Given the description of an element on the screen output the (x, y) to click on. 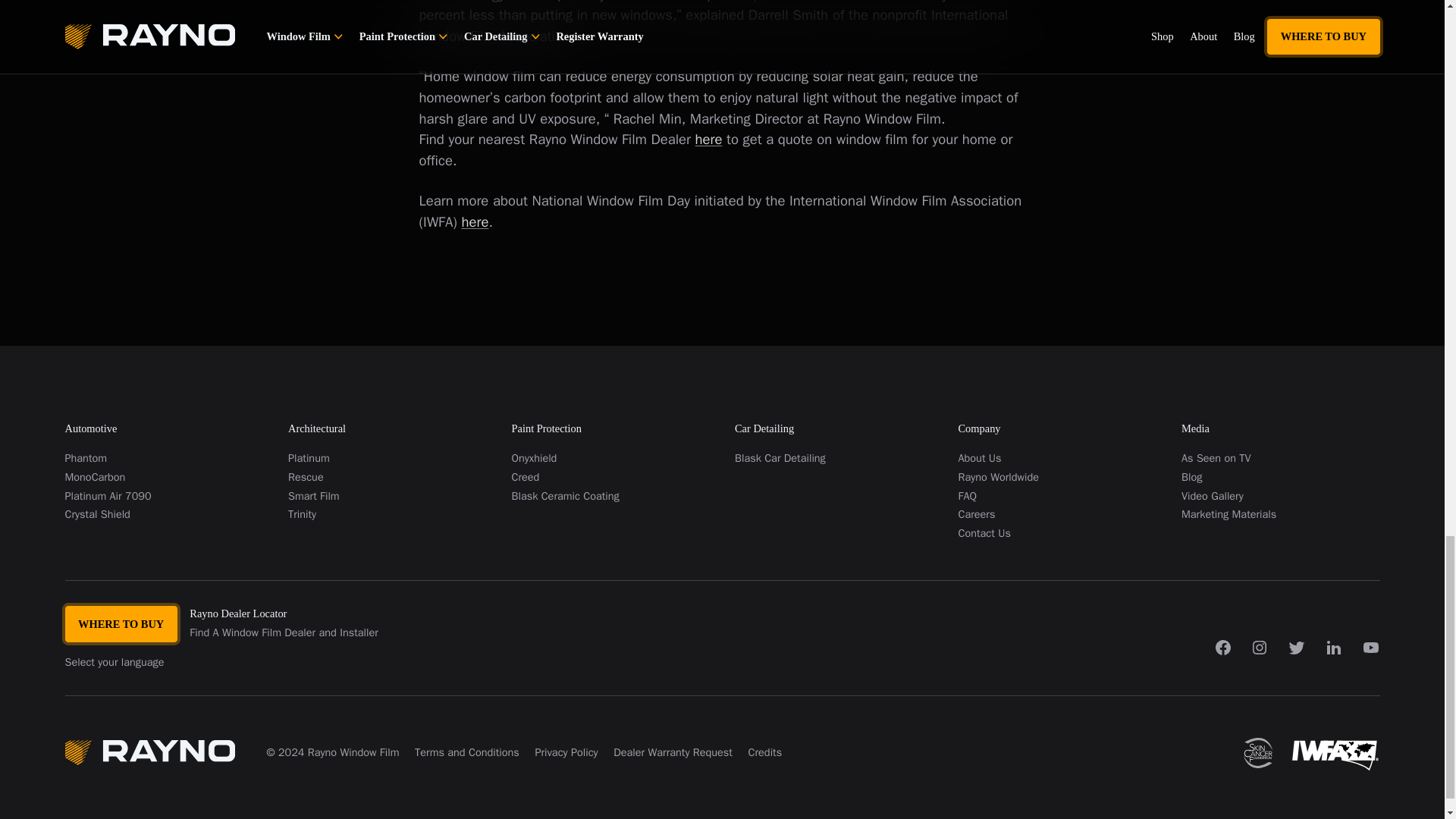
Phantom (164, 457)
Crystal Shield (164, 514)
Platinum Air 7090 (164, 496)
MonoCarbon (164, 476)
Platinum (387, 457)
